Given the description of an element on the screen output the (x, y) to click on. 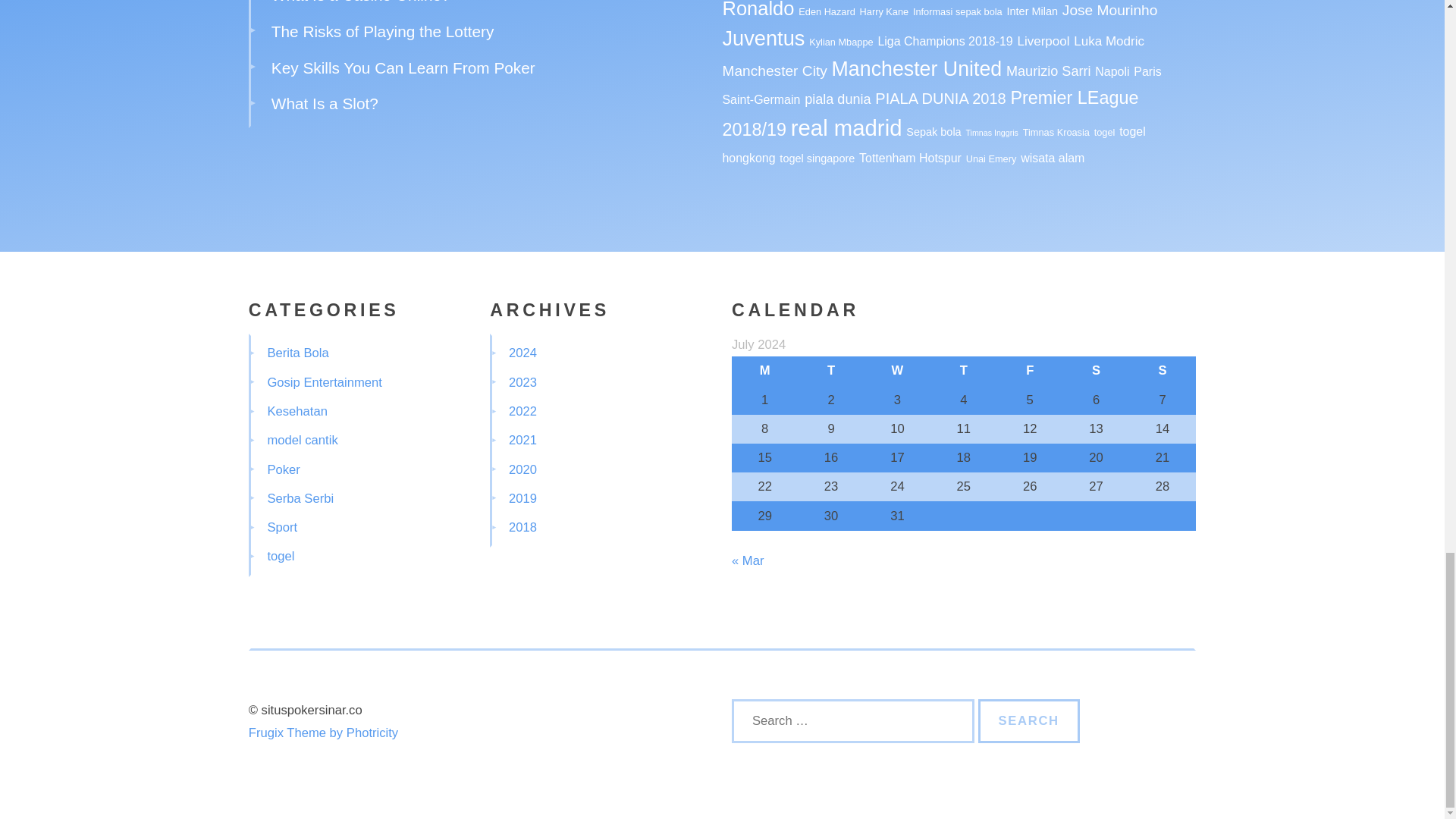
Tuesday (830, 370)
Inter Milan (1032, 10)
Jose Mourinho (1109, 10)
What Is a Slot? (324, 103)
The Risks of Playing the Lottery (382, 31)
Search (1029, 720)
Juventus (763, 37)
Monday (764, 370)
Eden Hazard (826, 11)
What Is a Casino Online? (359, 2)
Key Skills You Can Learn From Poker (402, 67)
Sunday (1162, 370)
Cristiano Ronaldo (923, 9)
Harry Kane (884, 11)
Friday (1029, 370)
